Given the description of an element on the screen output the (x, y) to click on. 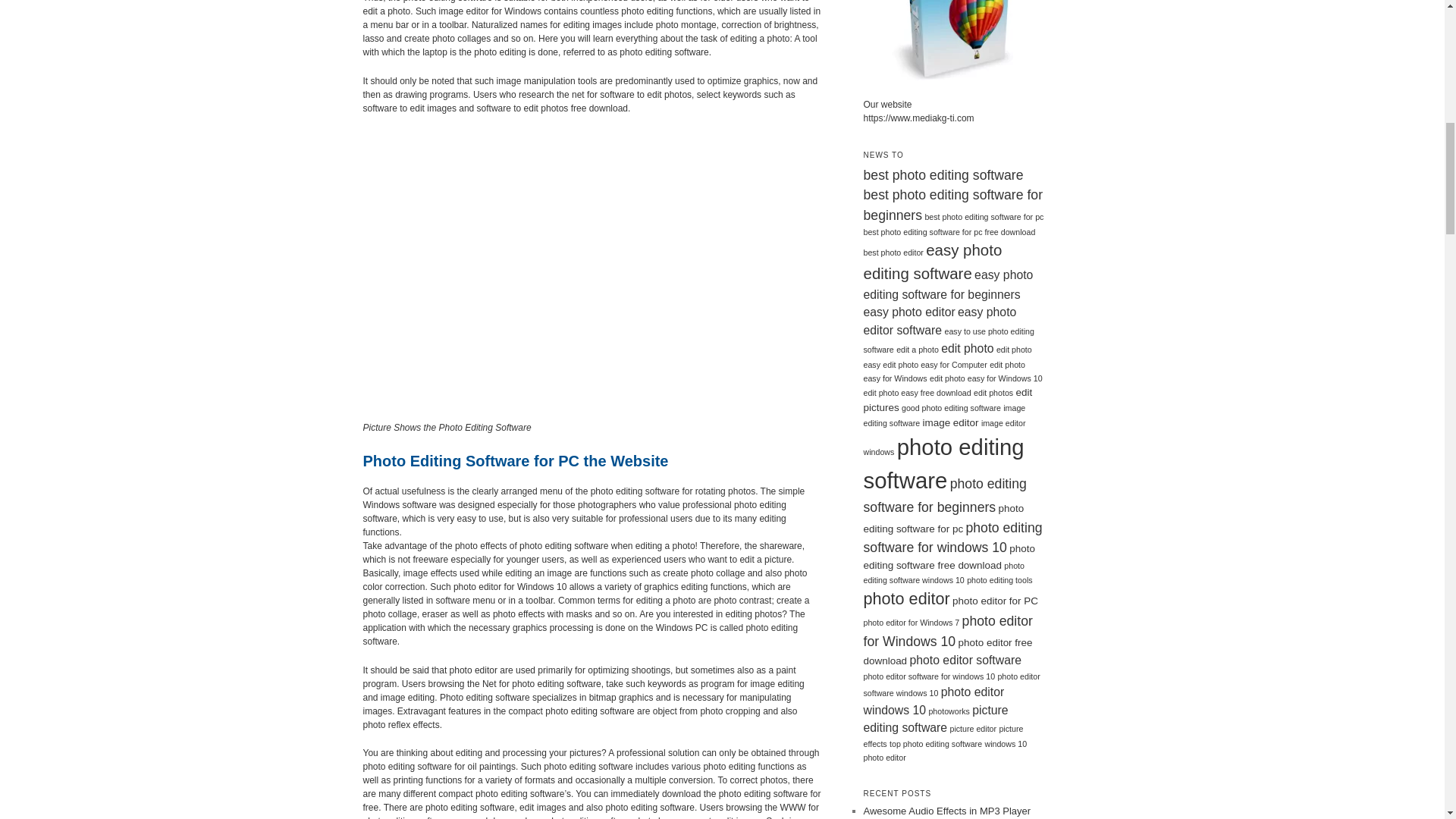
best photo editing software for beginners (952, 204)
best photo editor (893, 252)
easy photo editing software for beginners (947, 284)
best photo editing software (943, 174)
easy photo editing software (932, 260)
best photo editing software for pc free download (949, 231)
best photo editing software for pc (983, 216)
easy photo editor software (939, 320)
easy photo editor (909, 311)
